Given the description of an element on the screen output the (x, y) to click on. 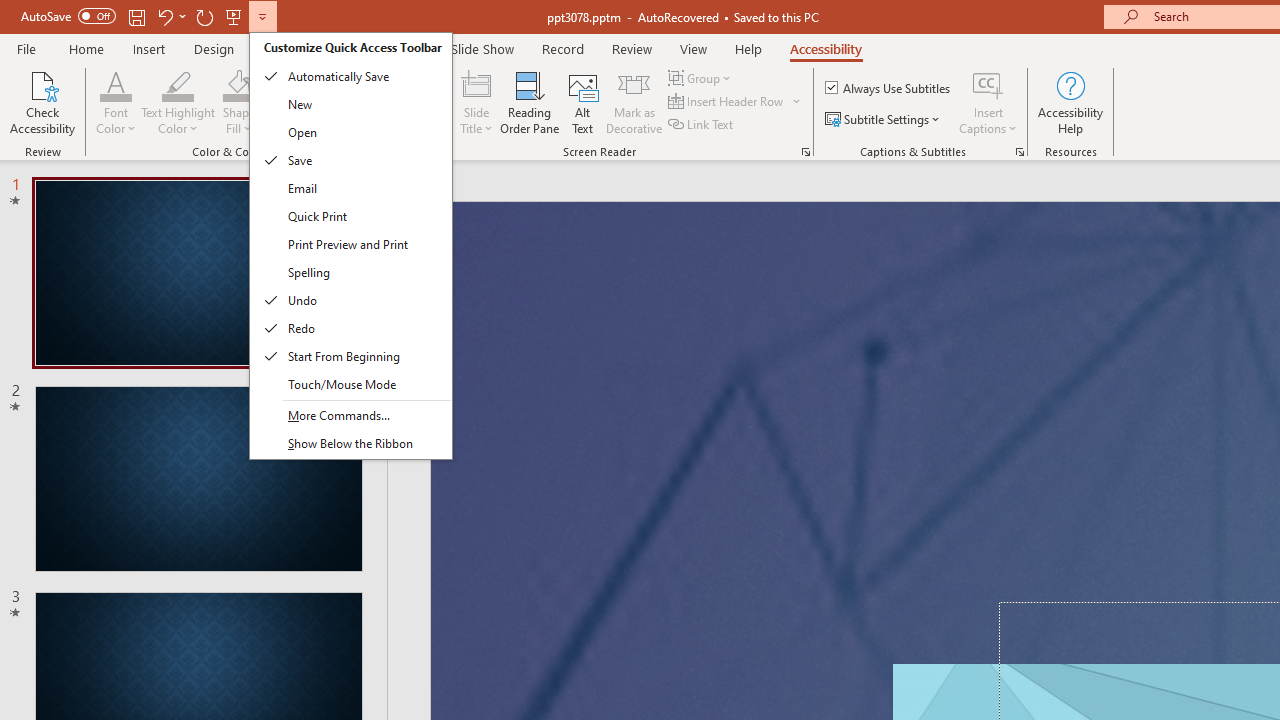
Reading Order Pane (529, 102)
Insert Header Row (735, 101)
Mark as Decorative (634, 102)
Subtitle Settings (884, 119)
